Given the description of an element on the screen output the (x, y) to click on. 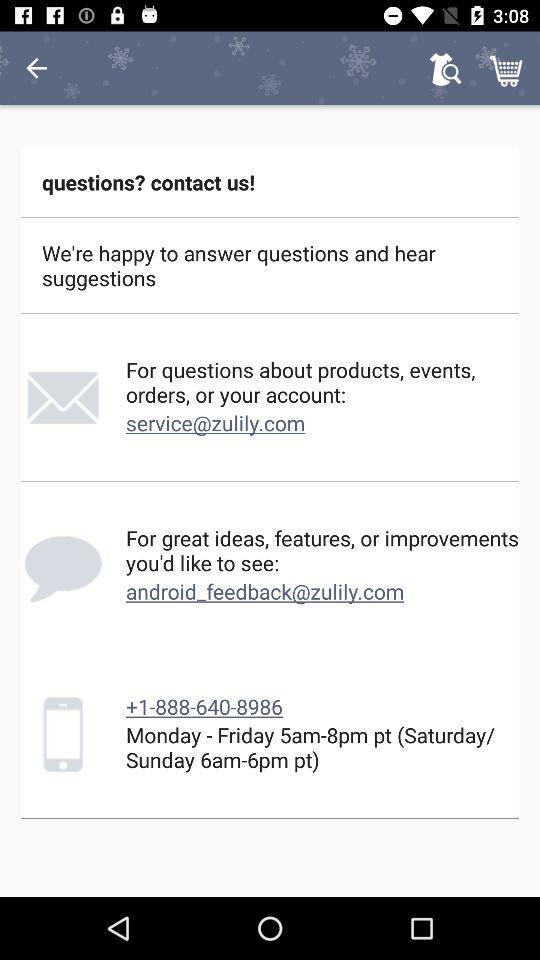
scroll until 1 888 640 icon (204, 706)
